Given the description of an element on the screen output the (x, y) to click on. 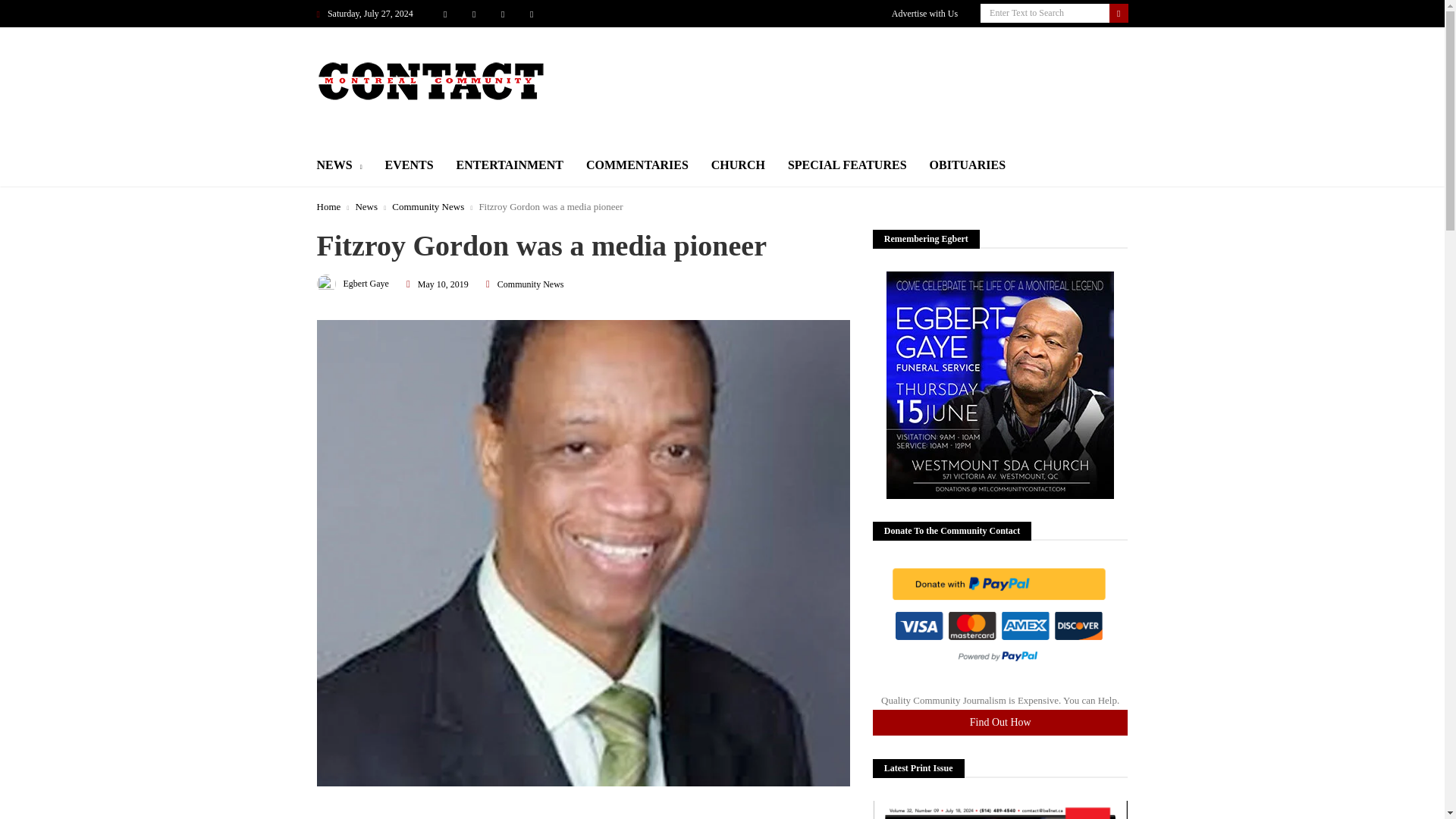
Advertisement (852, 61)
SPECIAL FEATURES (847, 165)
CHURCH (738, 165)
EVENTS (409, 165)
COMMENTARIES (637, 165)
Advertise with Us (924, 13)
NEWS (339, 166)
PayPal - The safer, easier way to pay online! (998, 615)
Advertisement (583, 814)
ENTERTAINMENT (510, 165)
Login (727, 426)
